Given the description of an element on the screen output the (x, y) to click on. 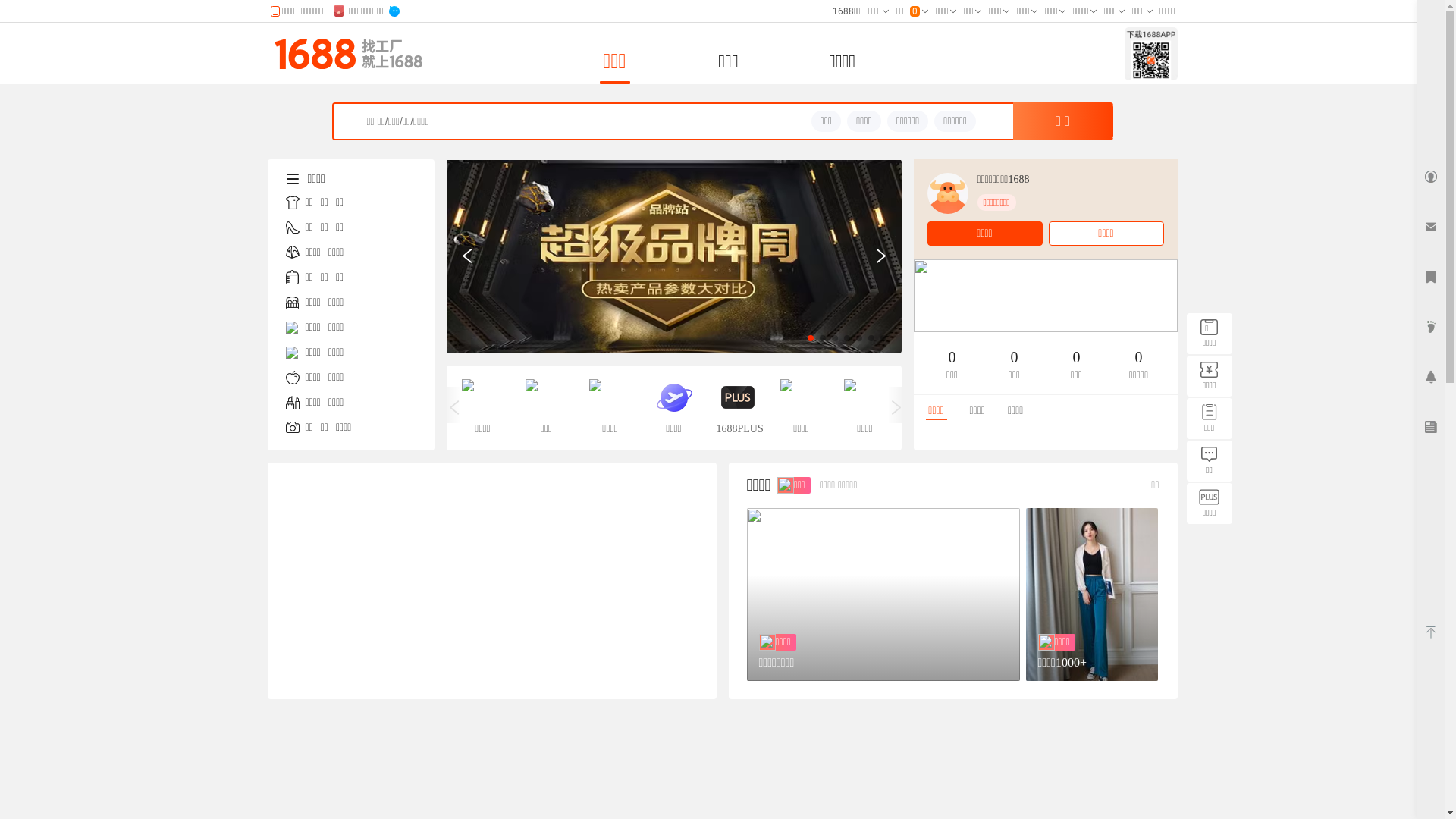
1688PLUS Element type: text (736, 407)
